Given the description of an element on the screen output the (x, y) to click on. 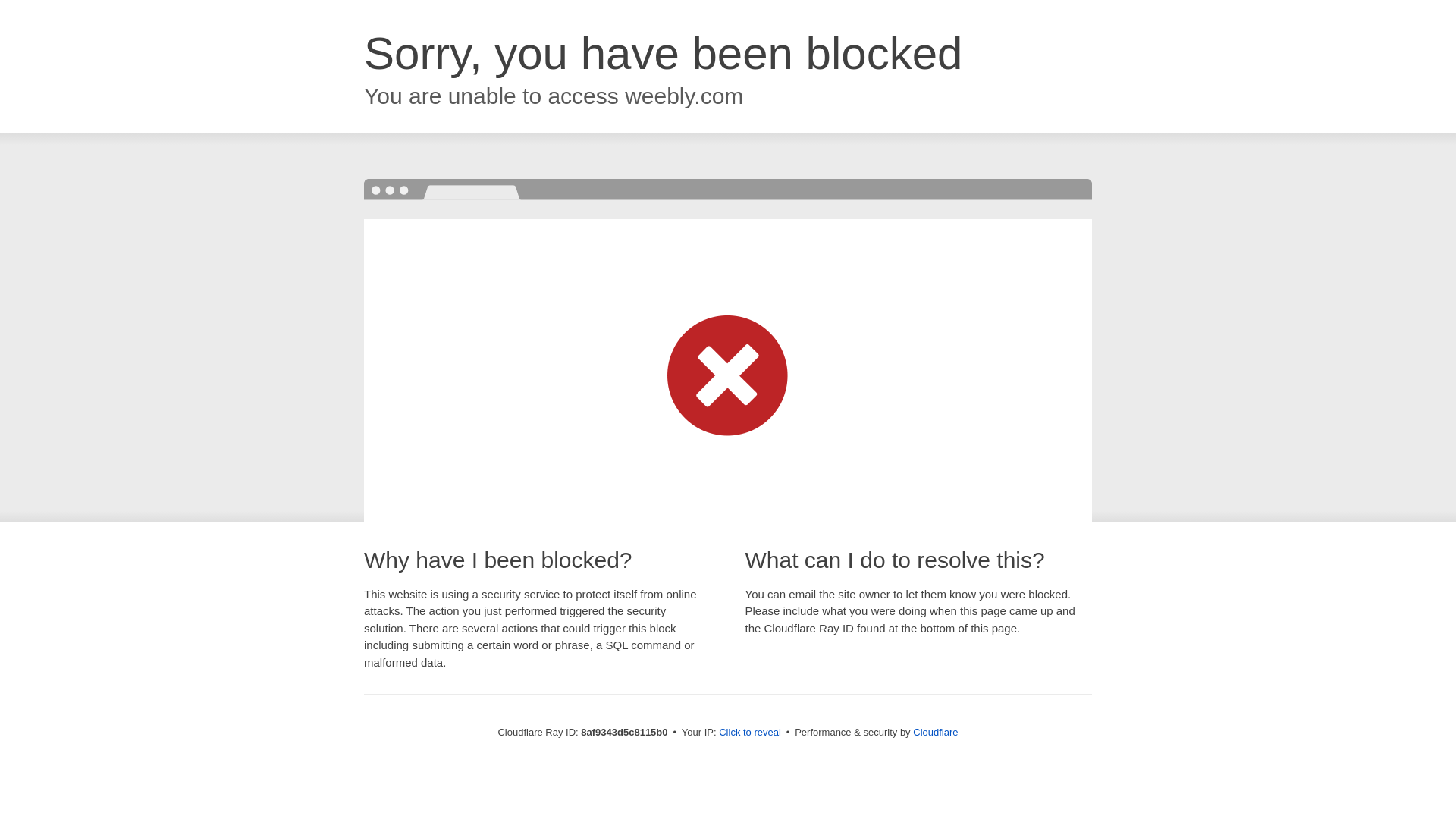
Cloudflare (935, 731)
Click to reveal (749, 732)
